Given the description of an element on the screen output the (x, y) to click on. 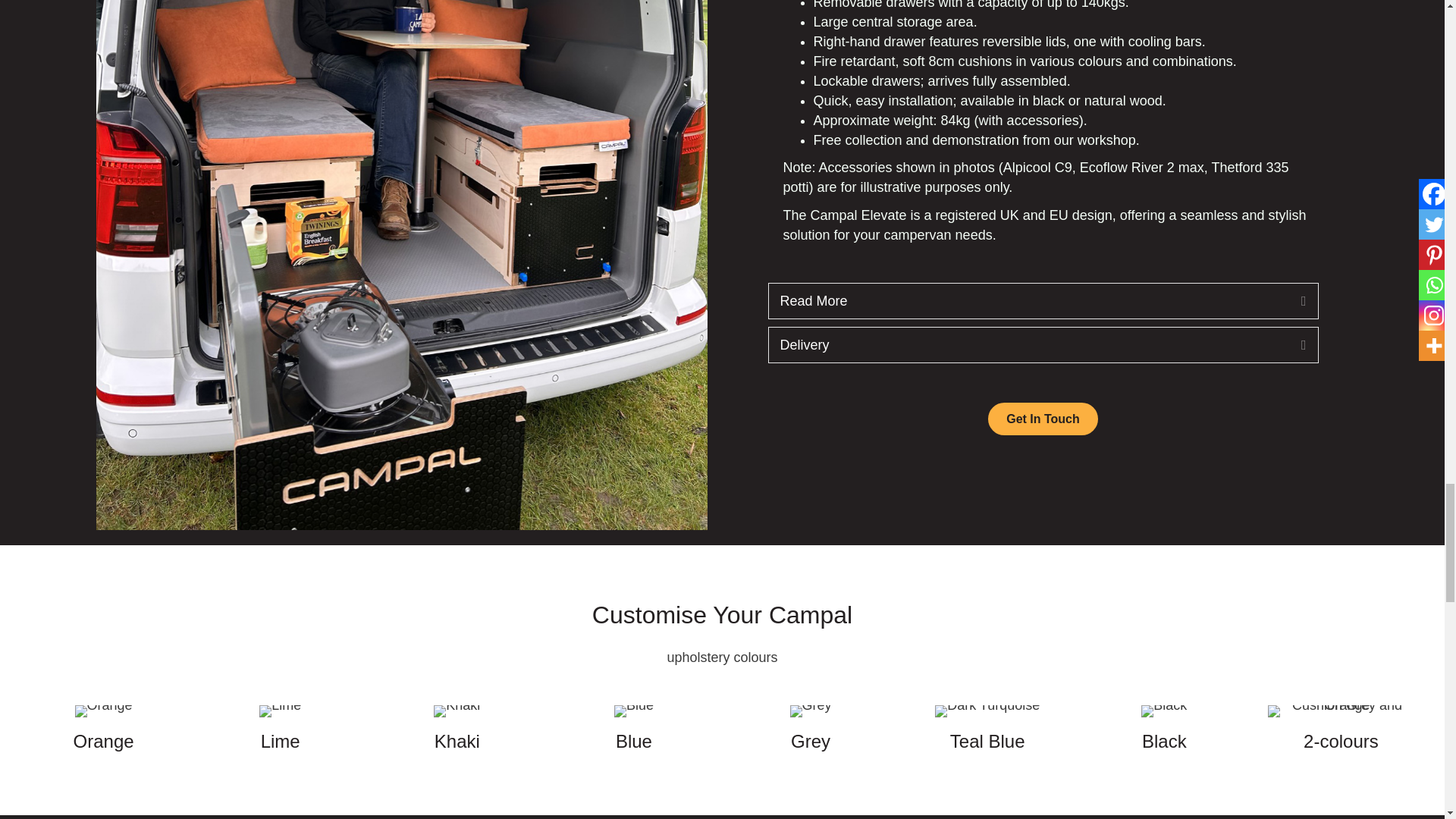
Expand (1292, 345)
Get In Touch (1043, 463)
Expand (1292, 389)
Read More (1028, 345)
Delivery (1028, 389)
Orange (103, 756)
